Given the description of an element on the screen output the (x, y) to click on. 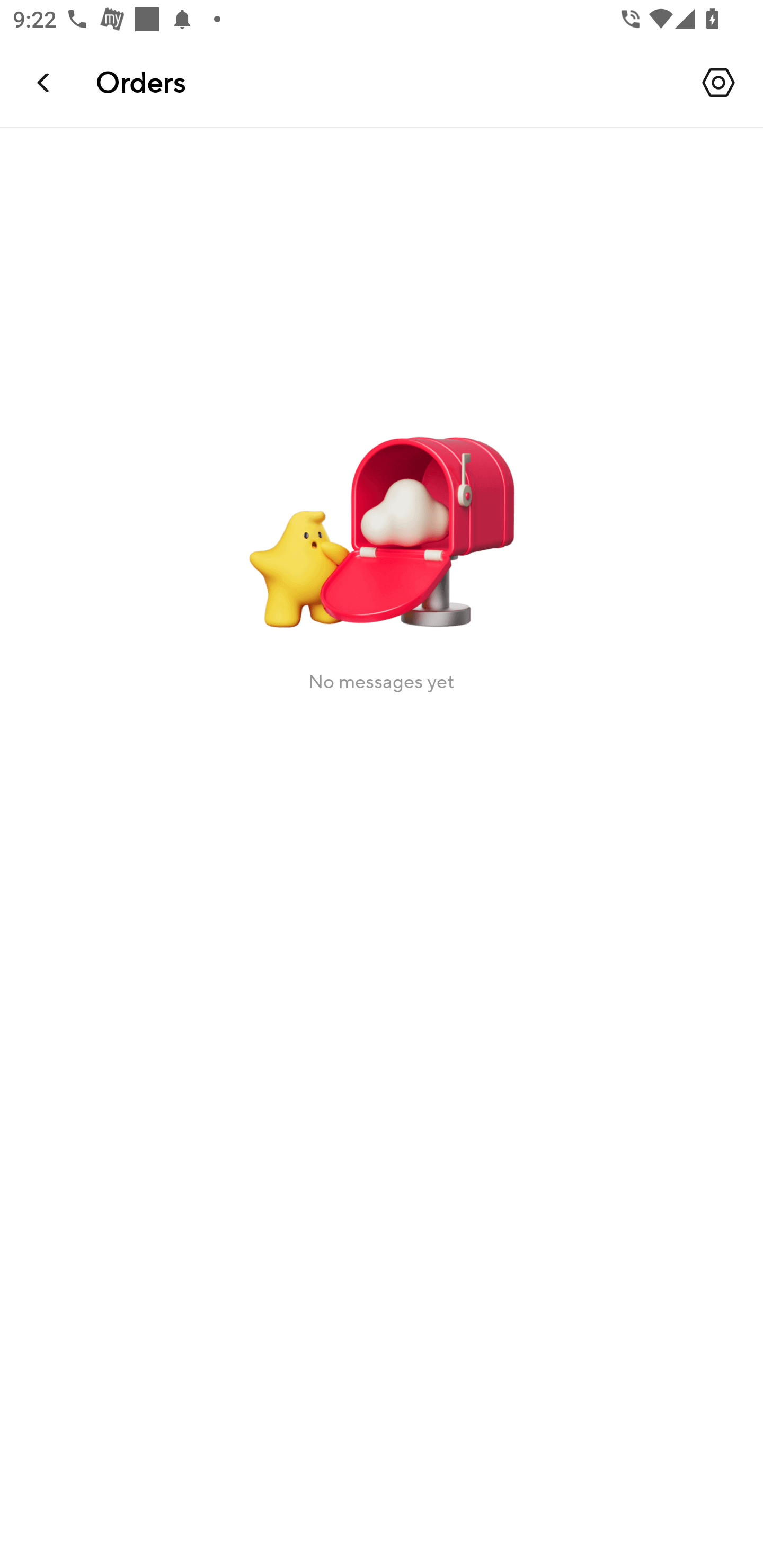
Navigate up (44, 82)
